Given the description of an element on the screen output the (x, y) to click on. 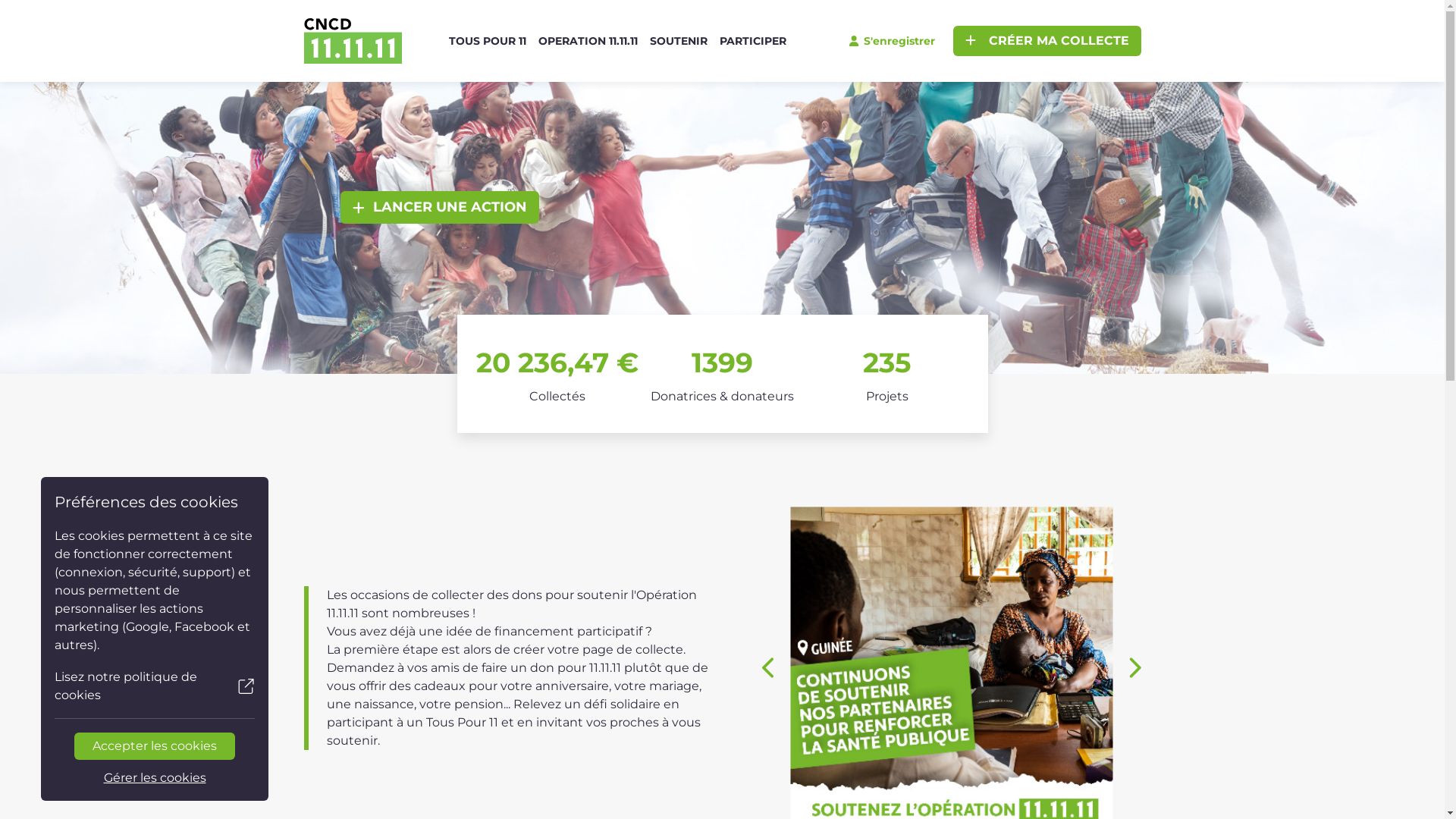
Accepter les cookies Element type: text (154, 745)
S'enregistrer Element type: text (891, 41)
PARTICIPER Element type: text (752, 41)
SOUTENIR Element type: text (678, 41)
TOUS POUR 11 Element type: text (487, 41)
OPERATION 11.11.11 Element type: text (587, 41)
Lisez notre politique de cookies Element type: text (154, 686)
LANCER UNE ACTION Element type: text (439, 207)
